Given the description of an element on the screen output the (x, y) to click on. 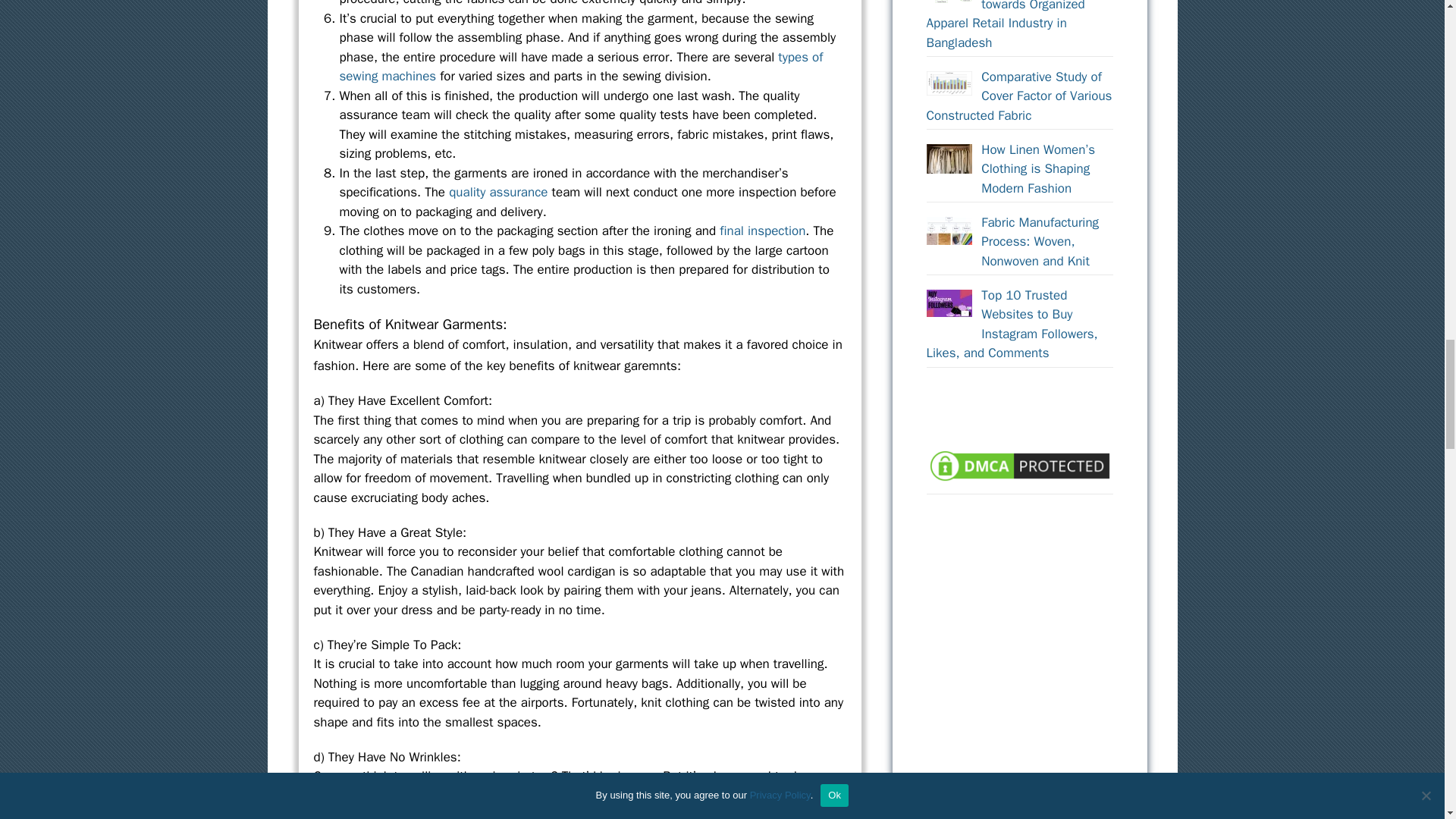
final inspection (762, 230)
quality assurance (497, 191)
types of sewing machines (581, 67)
